Given the description of an element on the screen output the (x, y) to click on. 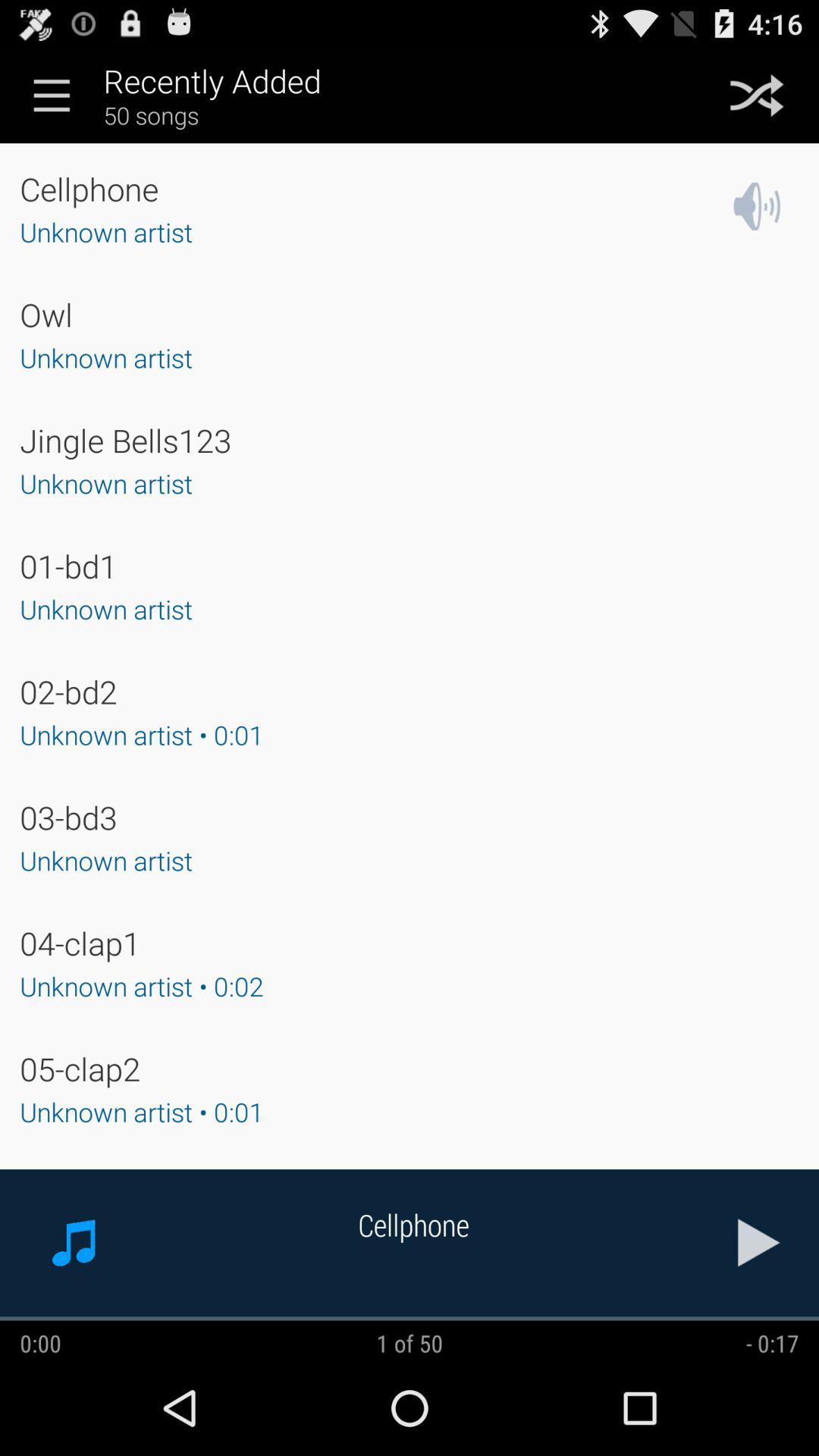
tap 03-bd3 icon (68, 816)
